Given the description of an element on the screen output the (x, y) to click on. 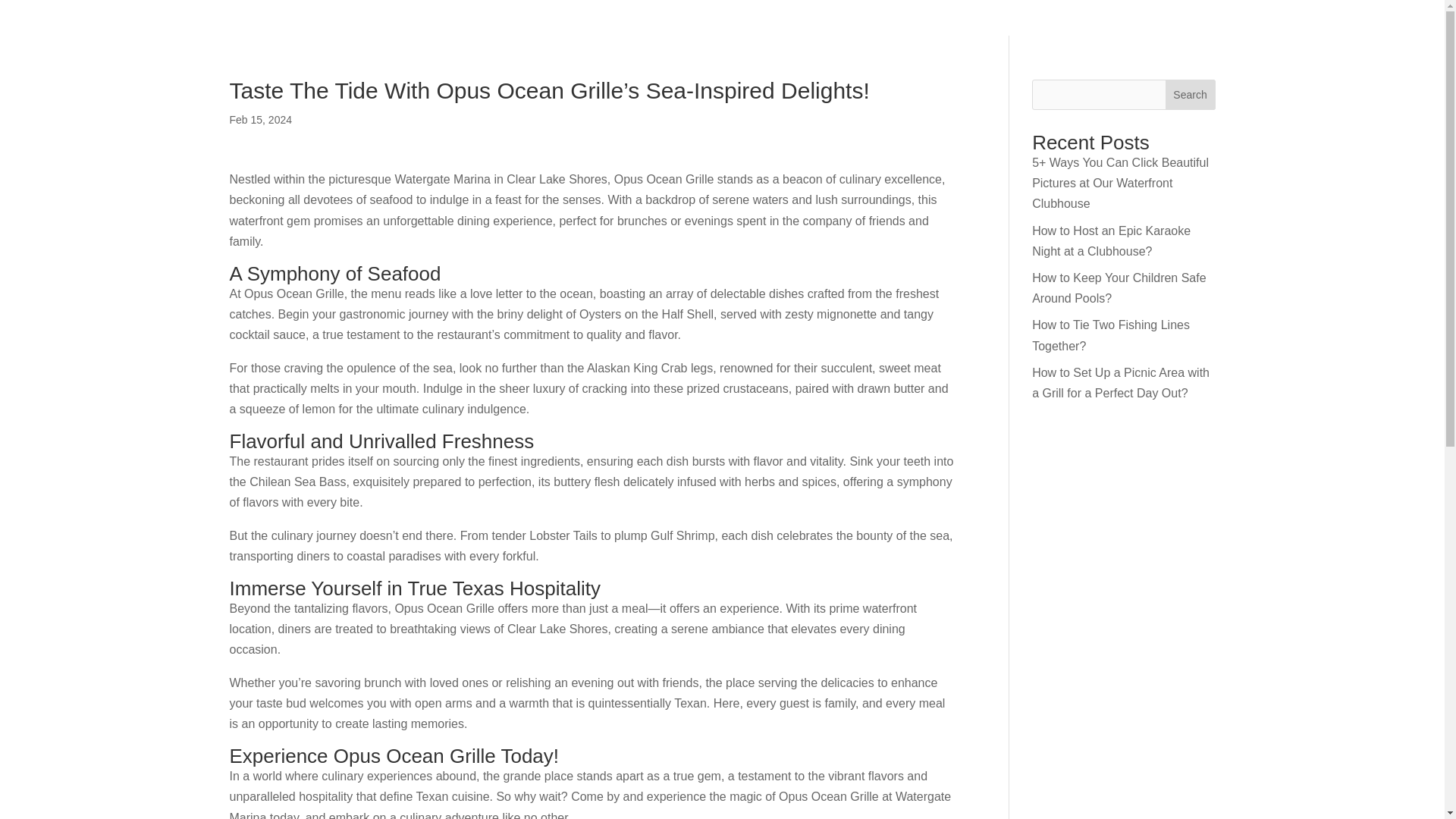
How to Tie Two Fishing Lines Together? (1110, 335)
Search (1190, 94)
How to Keep Your Children Safe Around Pools? (1118, 287)
How to Host an Epic Karaoke Night at a Clubhouse? (1111, 240)
